Given the description of an element on the screen output the (x, y) to click on. 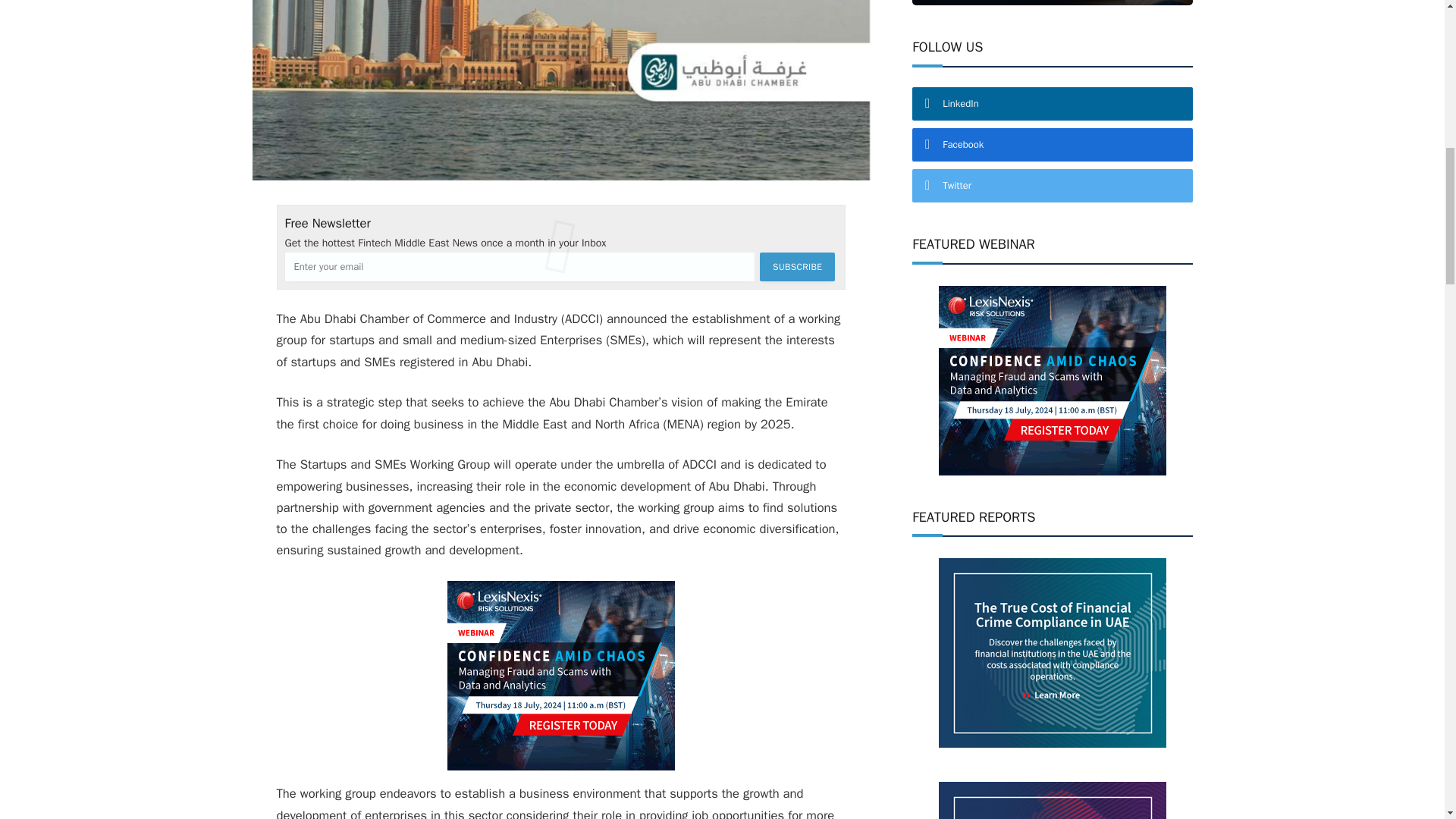
Subscribe (797, 266)
